Given the description of an element on the screen output the (x, y) to click on. 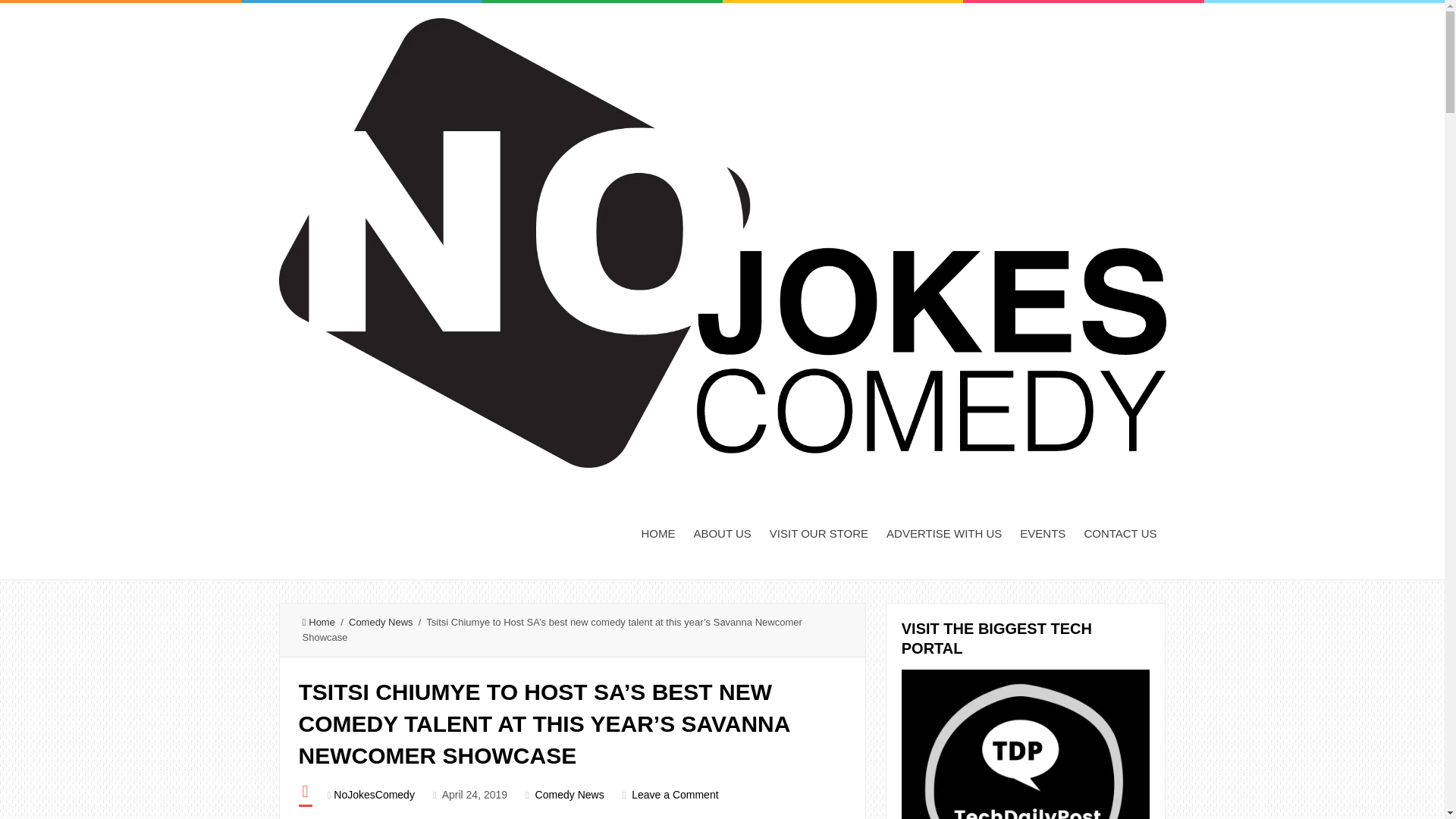
EVENTS (1042, 533)
CONTACT US (1120, 533)
Home (317, 622)
Leave a Comment (674, 794)
Comedy News (569, 794)
Posts by NoJokesComedy (373, 794)
NoJokesComedy (373, 794)
ADVERTISE WITH US (943, 533)
Comedy News (381, 622)
VISIT OUR STORE (818, 533)
HOME (657, 533)
ABOUT US (722, 533)
April 24, 2019 (474, 794)
